Given the description of an element on the screen output the (x, y) to click on. 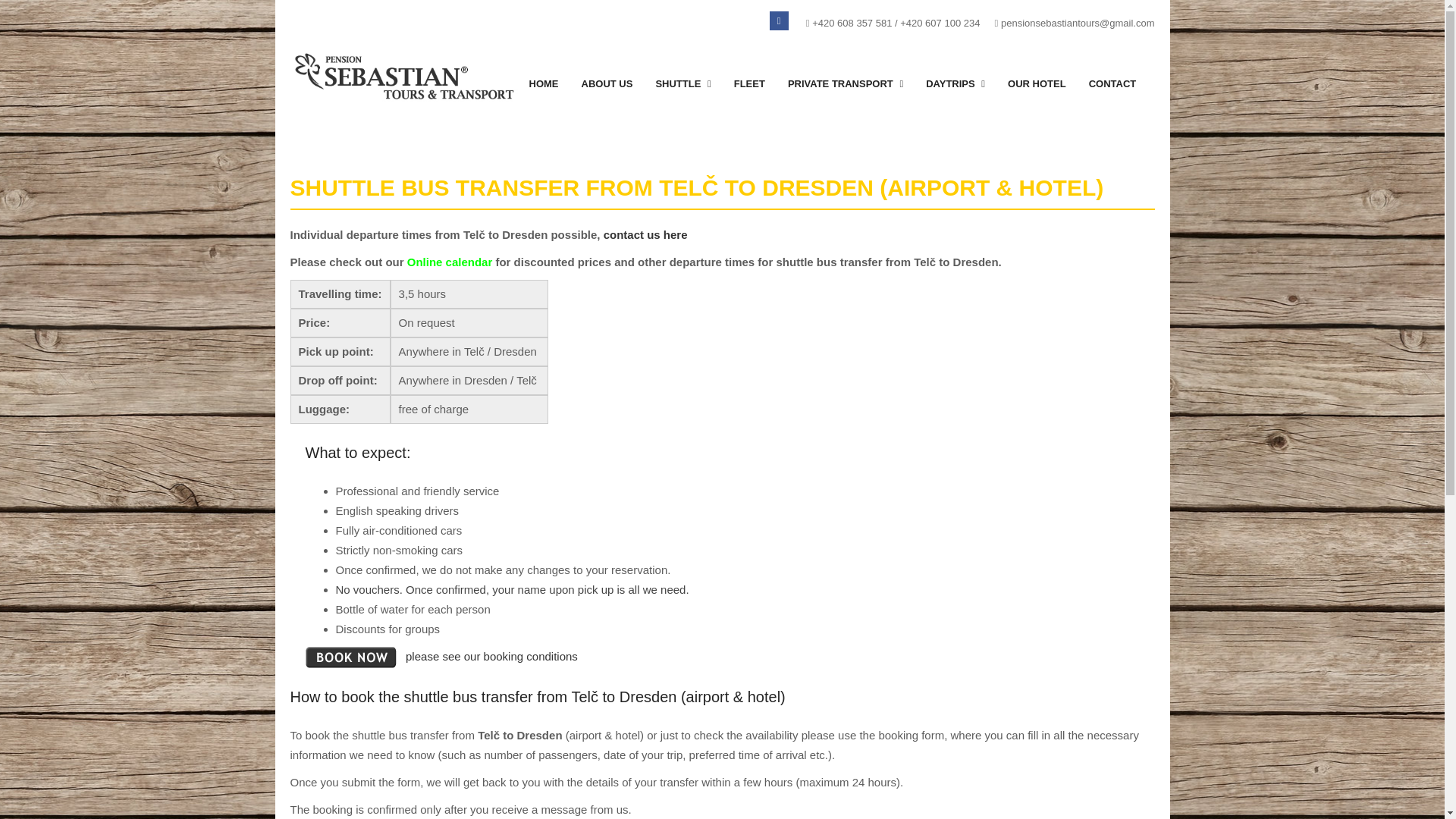
OUR HOTEL (1036, 83)
CONTACT (1112, 83)
ABOUT US (607, 83)
SHUTTLE (682, 83)
DAYTRIPS (954, 83)
PRIVATE TRANSPORT (845, 83)
